Given the description of an element on the screen output the (x, y) to click on. 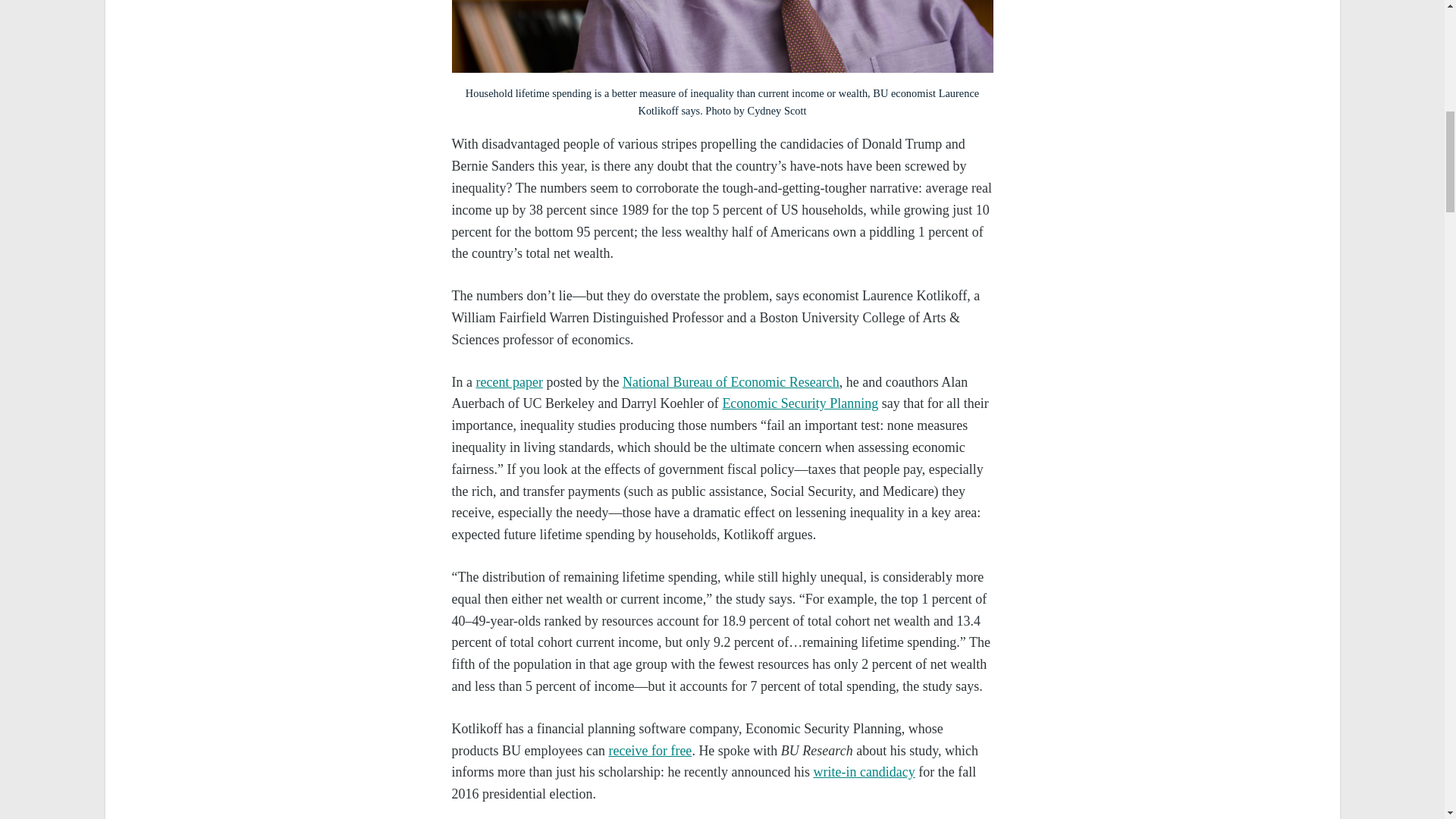
National Bureau of Economic Research (731, 381)
recent paper (508, 381)
write-in candidacy (863, 771)
Economic Security Planning (799, 403)
receive for free (649, 750)
